Given the description of an element on the screen output the (x, y) to click on. 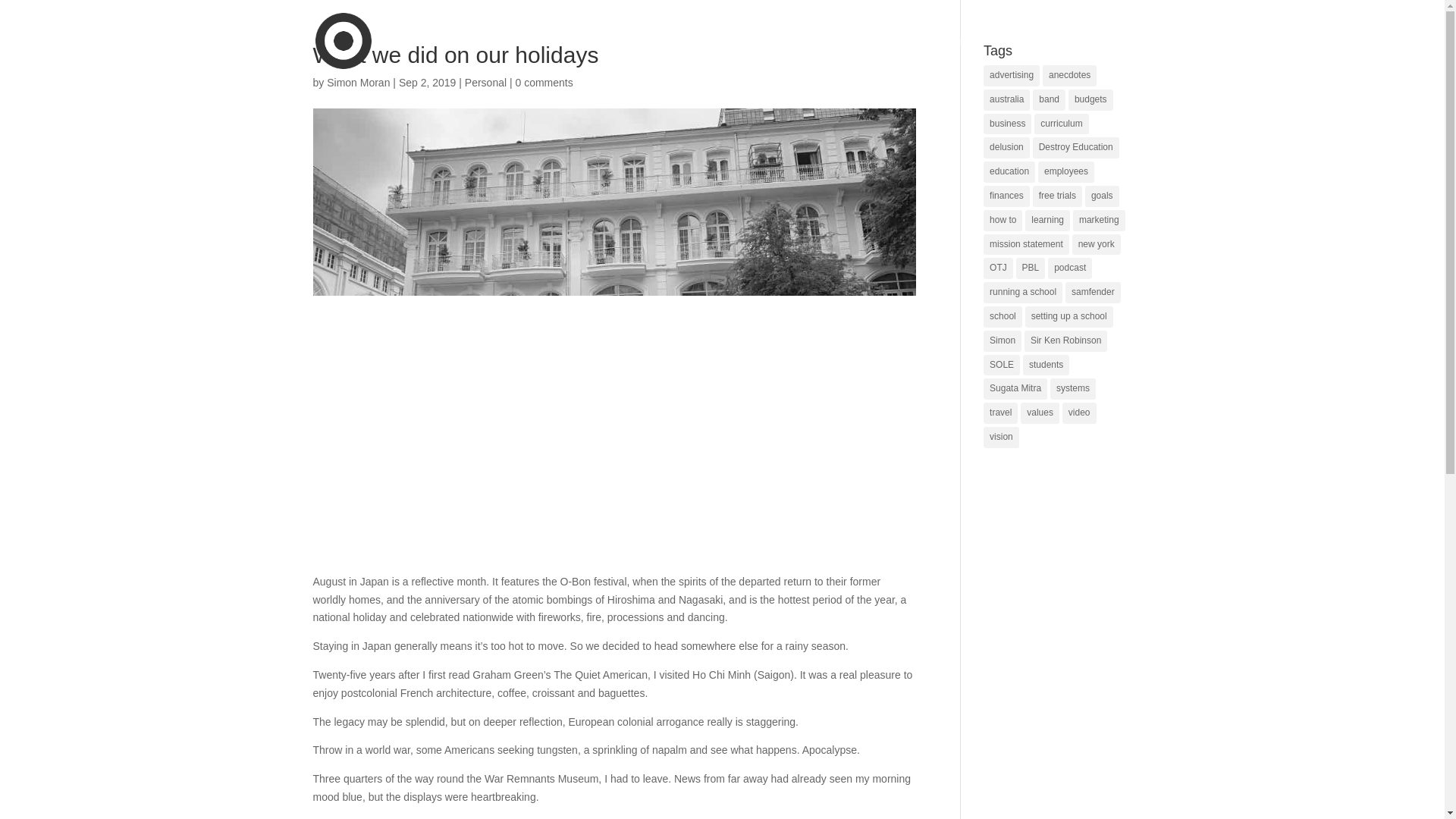
Posts by Simon Moran (358, 82)
0 comments (544, 82)
Newsletter (1075, 58)
Glossary (1004, 58)
Simon Moran (358, 82)
Personal (485, 82)
